Given the description of an element on the screen output the (x, y) to click on. 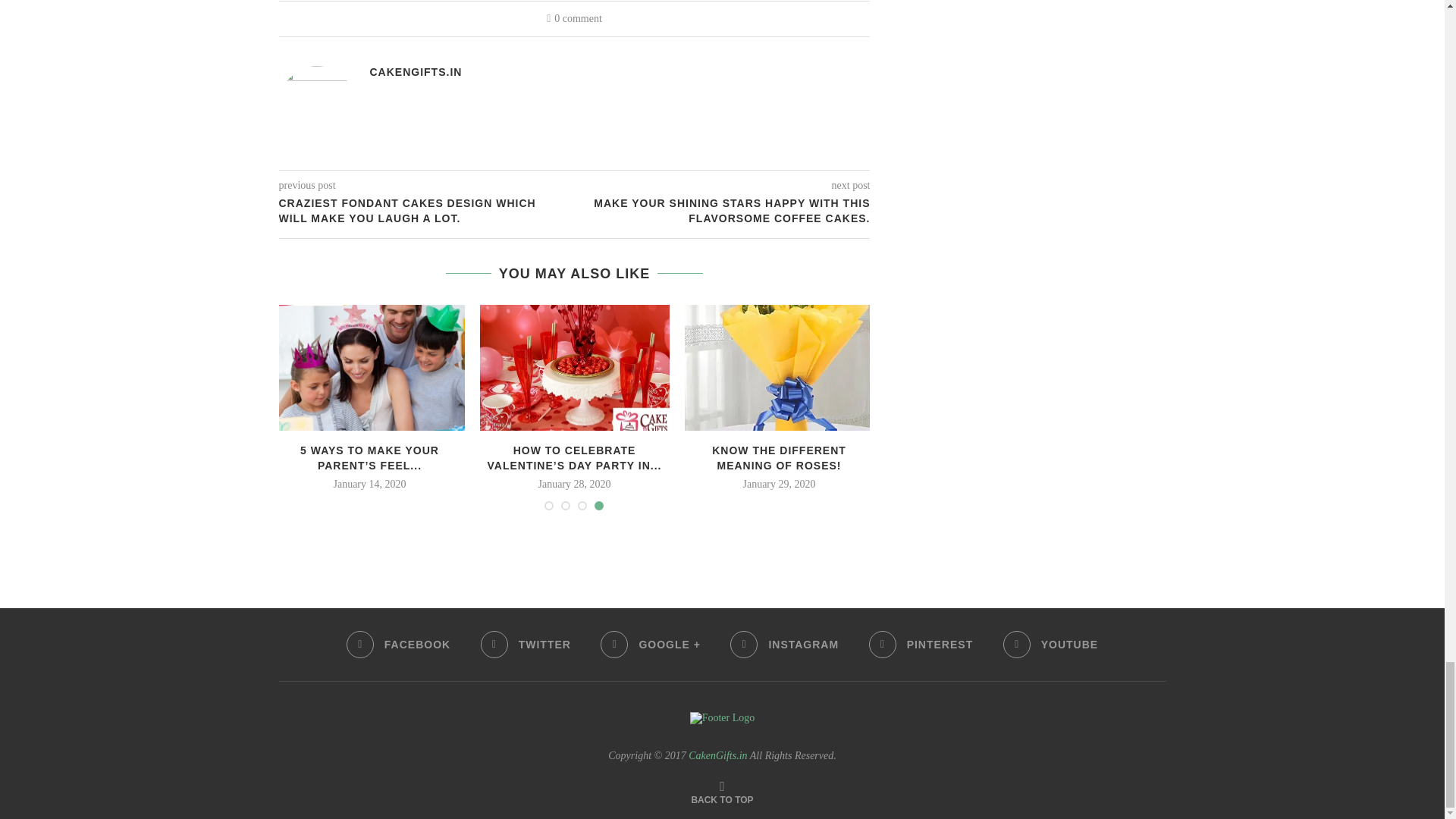
Posts by CakenGifts.in (416, 71)
Know The Different Meaning Of Roses! (778, 367)
